Given the description of an element on the screen output the (x, y) to click on. 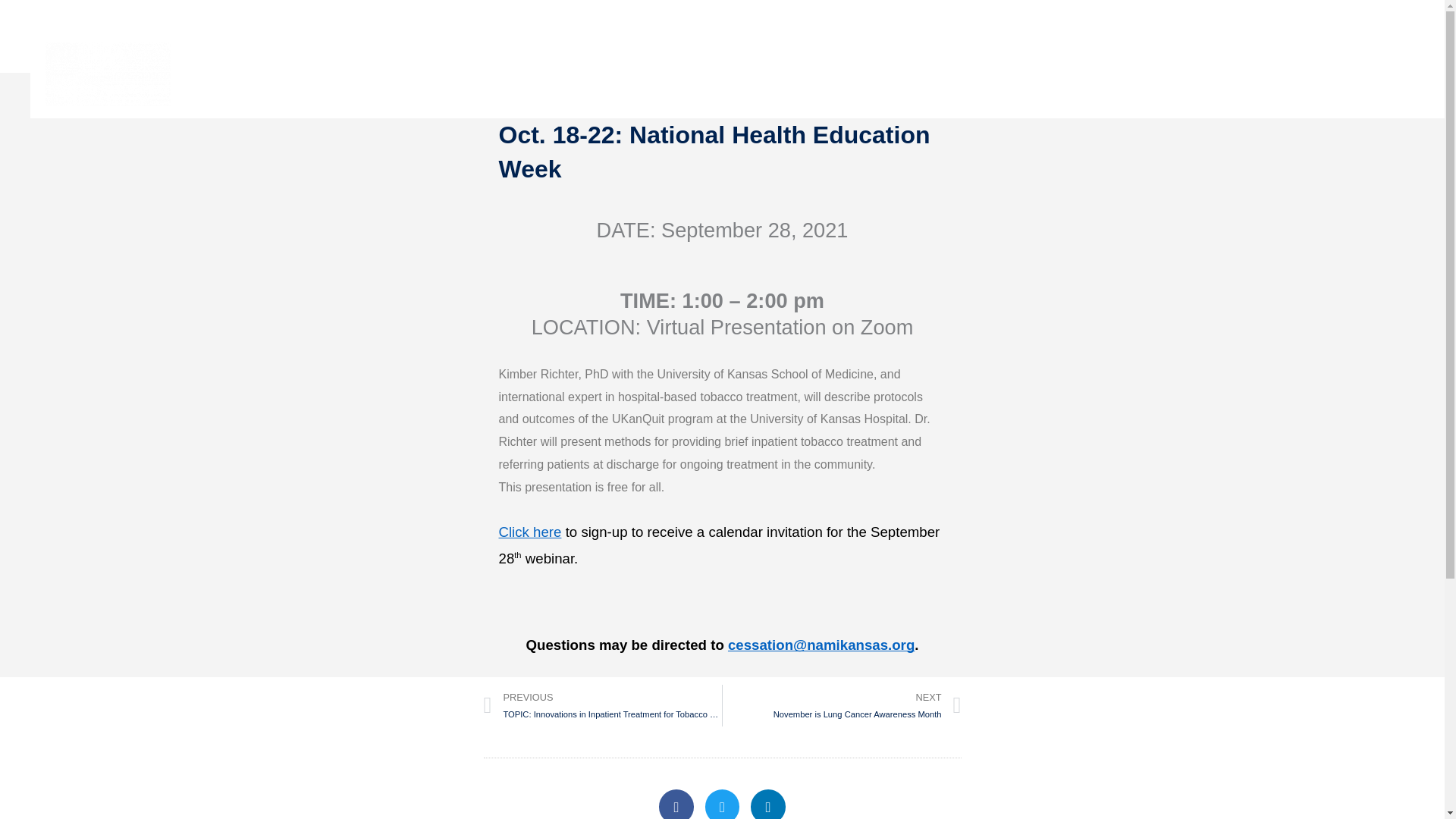
Click here (530, 532)
Twitter (721, 804)
Linkedin-in (841, 705)
Main Menu (768, 804)
Facebook-f (1409, 74)
